Given the description of an element on the screen output the (x, y) to click on. 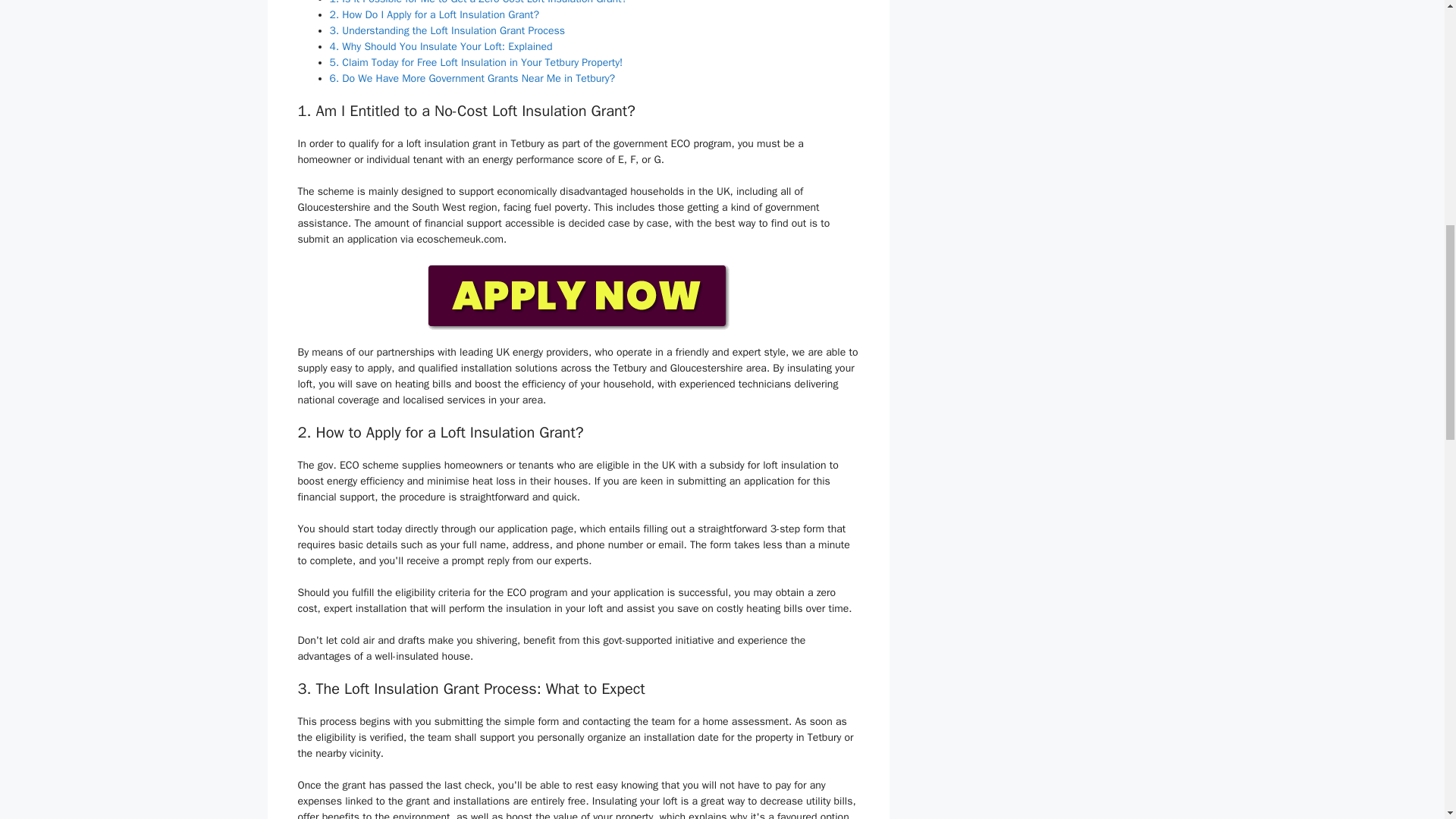
6. Do We Have More Government Grants Near Me in Tetbury? (471, 78)
2. How Do I Apply for a Loft Insulation Grant? (433, 14)
4. Why Should You Insulate Your Loft: Explained (440, 46)
3. Understanding the Loft Insulation Grant Process (446, 30)
